Given the description of an element on the screen output the (x, y) to click on. 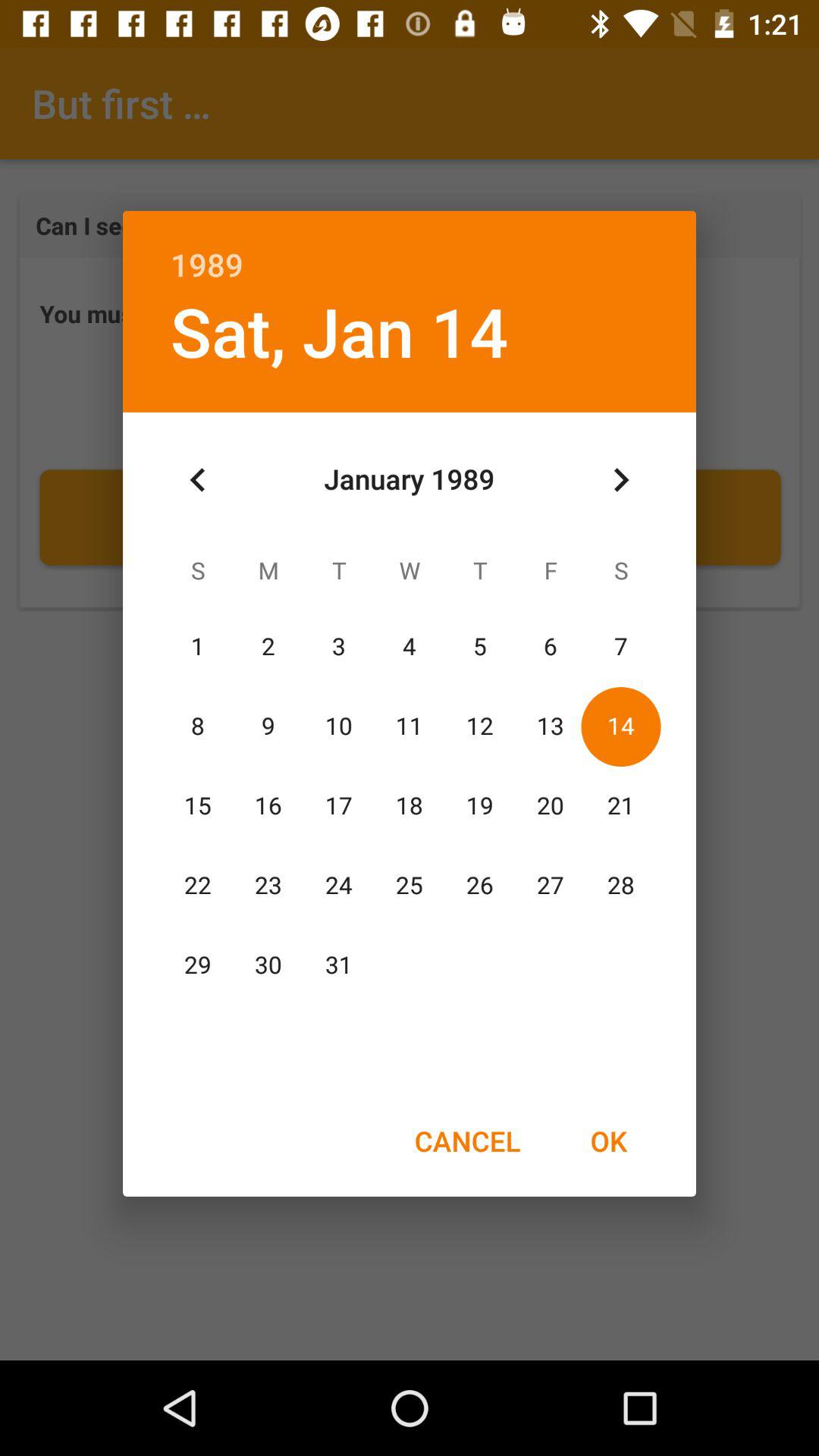
tap icon below 1989 item (339, 331)
